Given the description of an element on the screen output the (x, y) to click on. 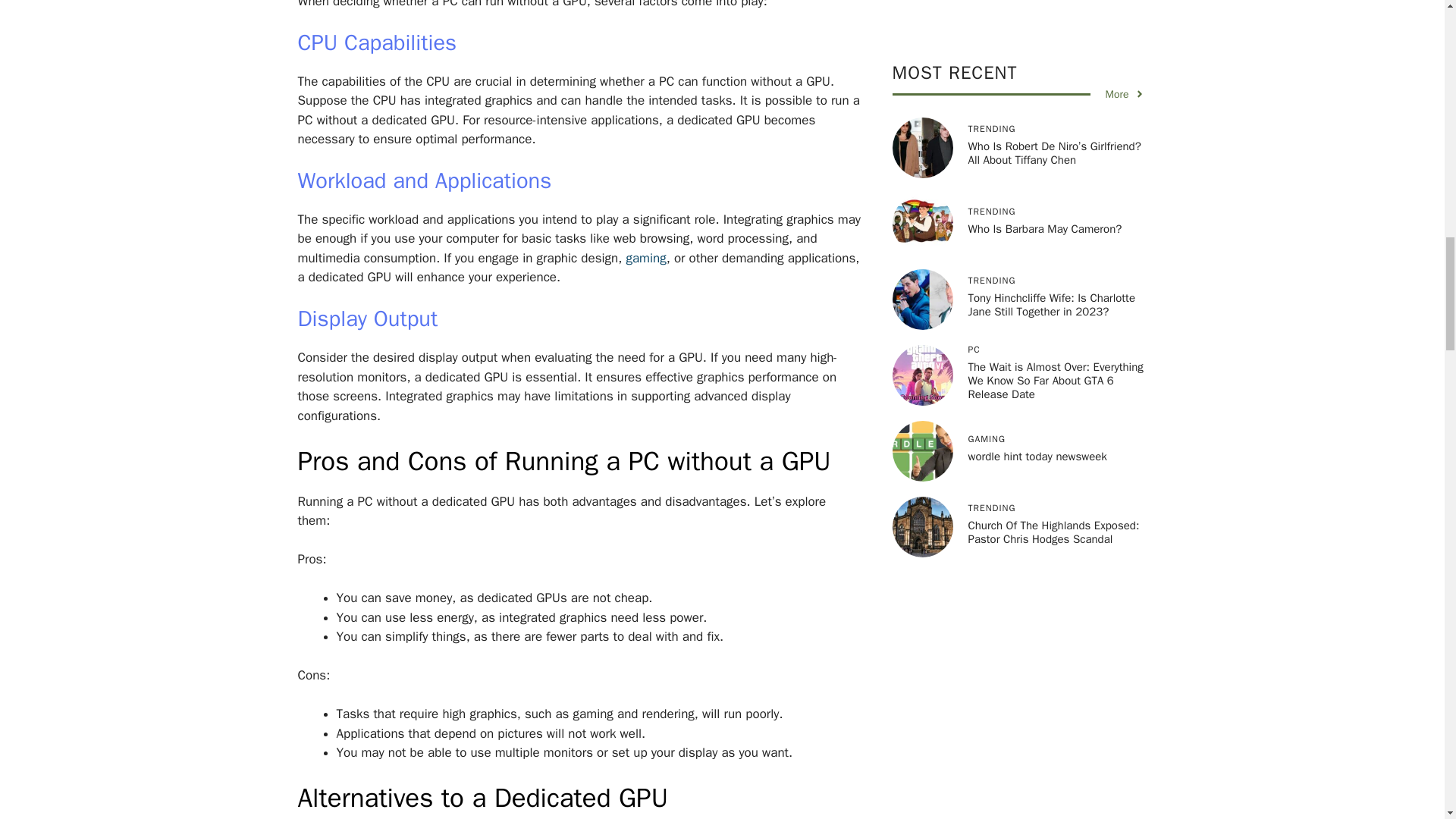
gaming (645, 258)
